Given the description of an element on the screen output the (x, y) to click on. 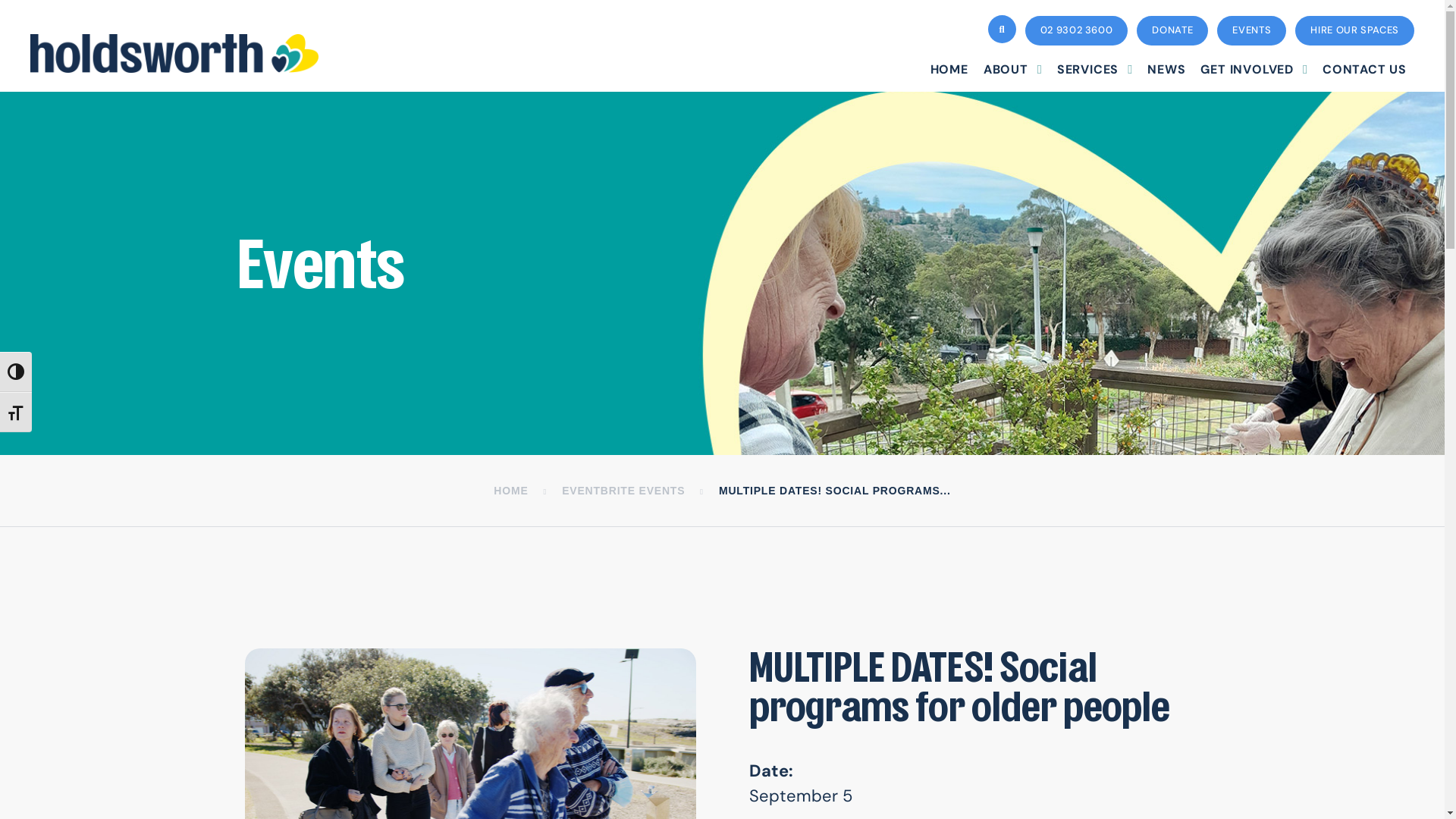
CONTACT US Element type: text (1364, 69)
Toggle High Contrast Element type: text (15, 371)
02 9302 3600 Element type: text (1076, 30)
HOME Element type: text (510, 490)
HIRE OUR SPACES Element type: text (1354, 30)
EVENTBRITE EVENTS Element type: text (622, 490)
GET INVOLVED Element type: text (1253, 69)
Toggle Font size Element type: text (15, 412)
ABOUT Element type: text (1012, 69)
SERVICES Element type: text (1094, 69)
HOME Element type: text (949, 69)
EVENTS Element type: text (1251, 30)
DONATE Element type: text (1172, 30)
NEWS Element type: text (1166, 69)
